Given the description of an element on the screen output the (x, y) to click on. 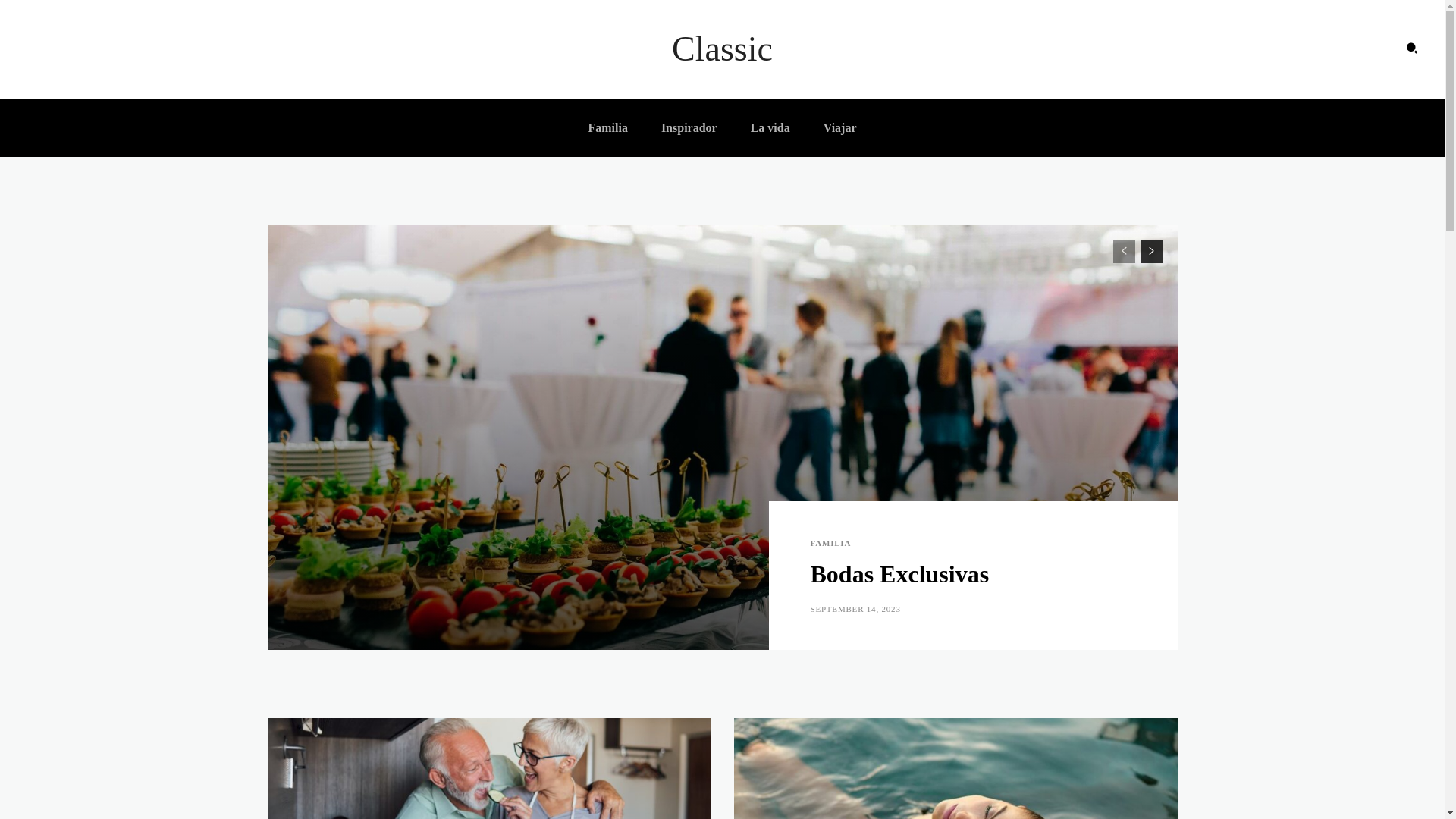
Inspirador Element type: text (689, 127)
0 Element type: text (1126, 609)
Familia Element type: text (607, 127)
FAMILIA Element type: text (829, 543)
Bodas Exclusivas Element type: hover (721, 437)
Bodas Exclusivas Element type: text (898, 573)
Viajar Element type: text (839, 127)
Classic Element type: text (722, 49)
La vida Element type: text (770, 127)
